Given the description of an element on the screen output the (x, y) to click on. 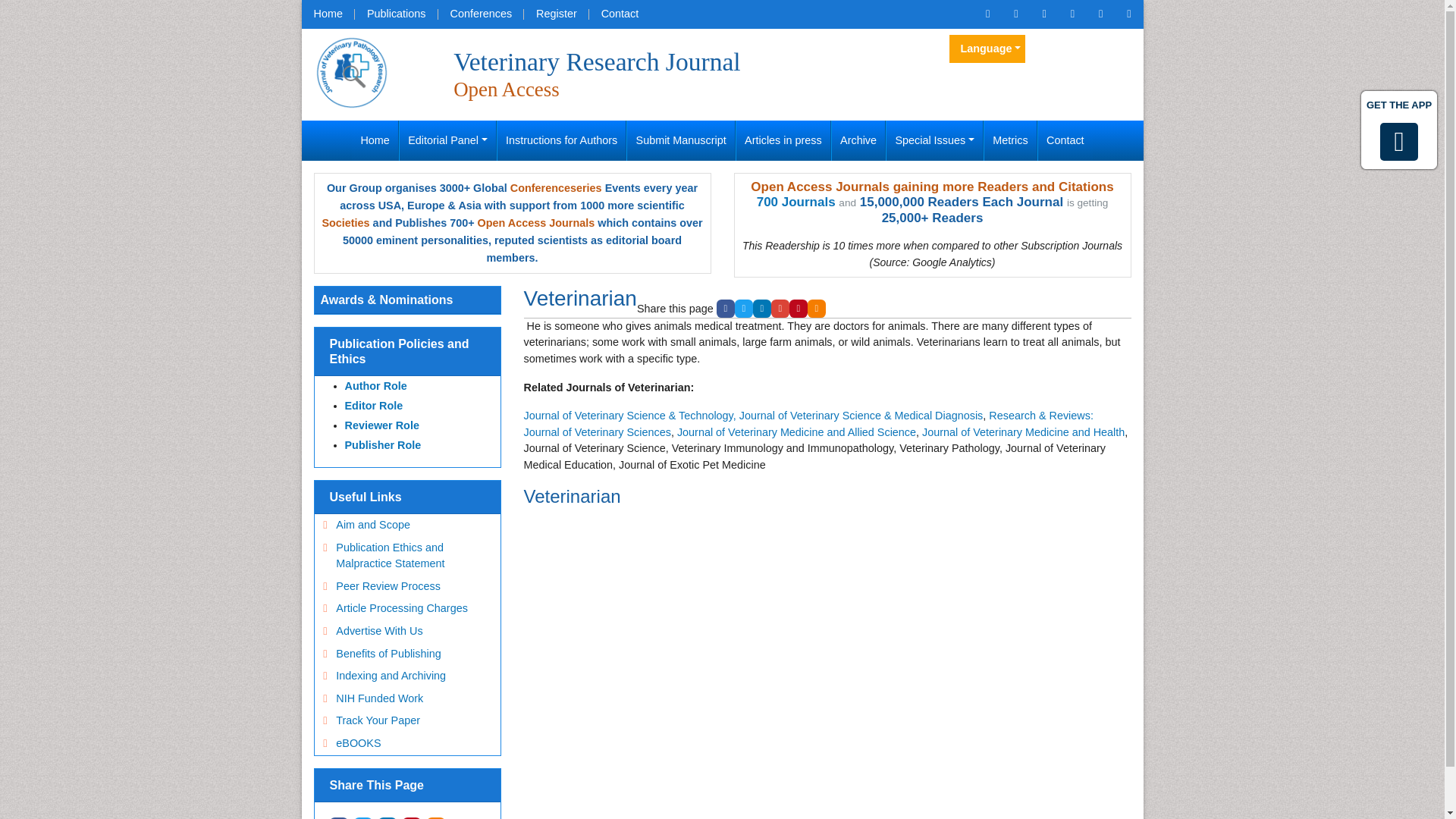
Omics Youtube (1128, 14)
Click here (987, 14)
Submit Manuscript (681, 140)
Conferences (481, 14)
Omics Twitter (1043, 14)
Omics Slideshare (1100, 14)
Register (556, 14)
Contact (619, 14)
Contact (619, 14)
OMICS Group Conferences (481, 14)
Register (556, 14)
Omics Facebook (1015, 14)
Publications (396, 14)
Editorial Panel (447, 140)
Veterinary Research Journal (352, 70)
